Given the description of an element on the screen output the (x, y) to click on. 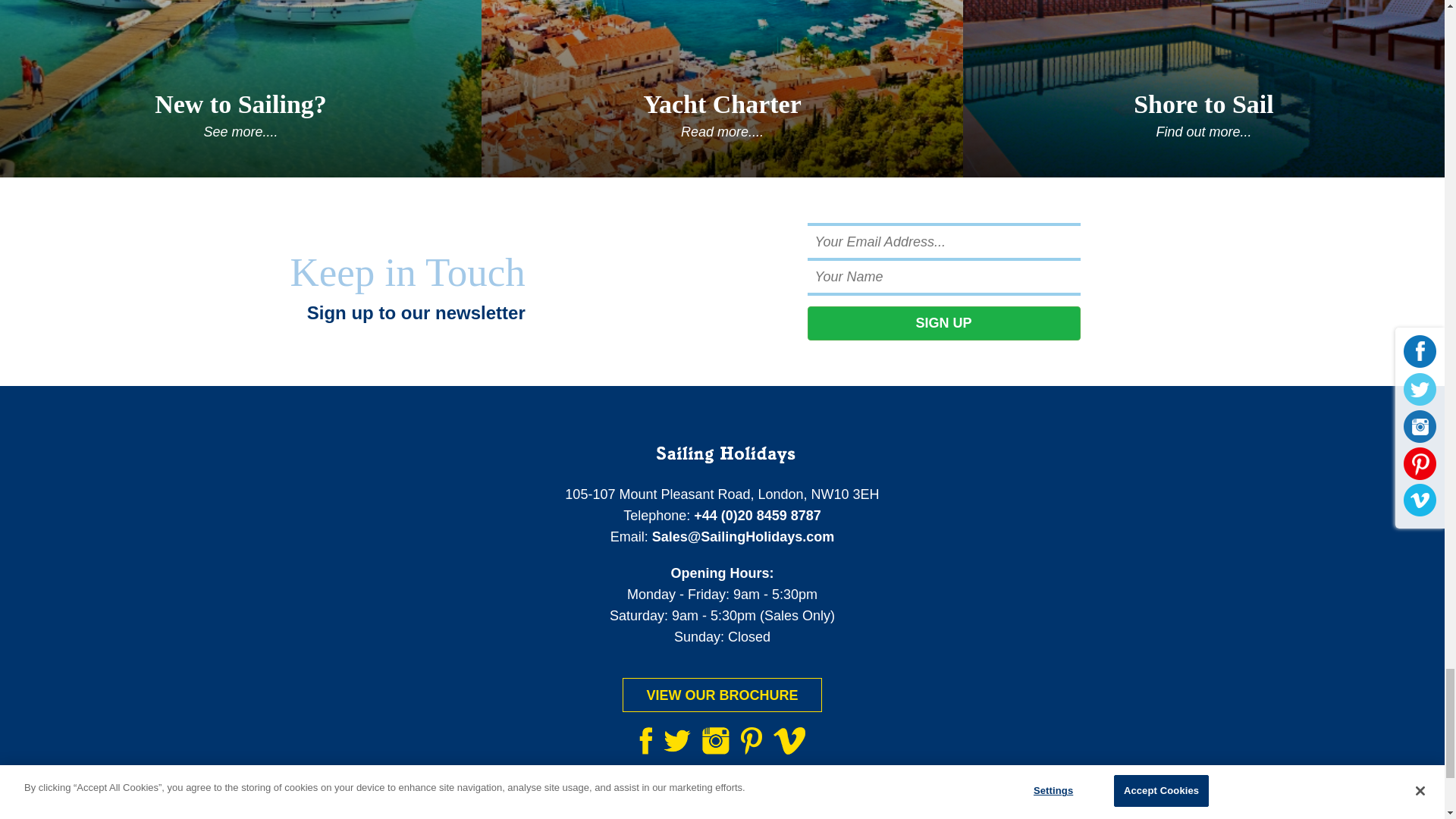
SIGN UP (943, 323)
